Given the description of an element on the screen output the (x, y) to click on. 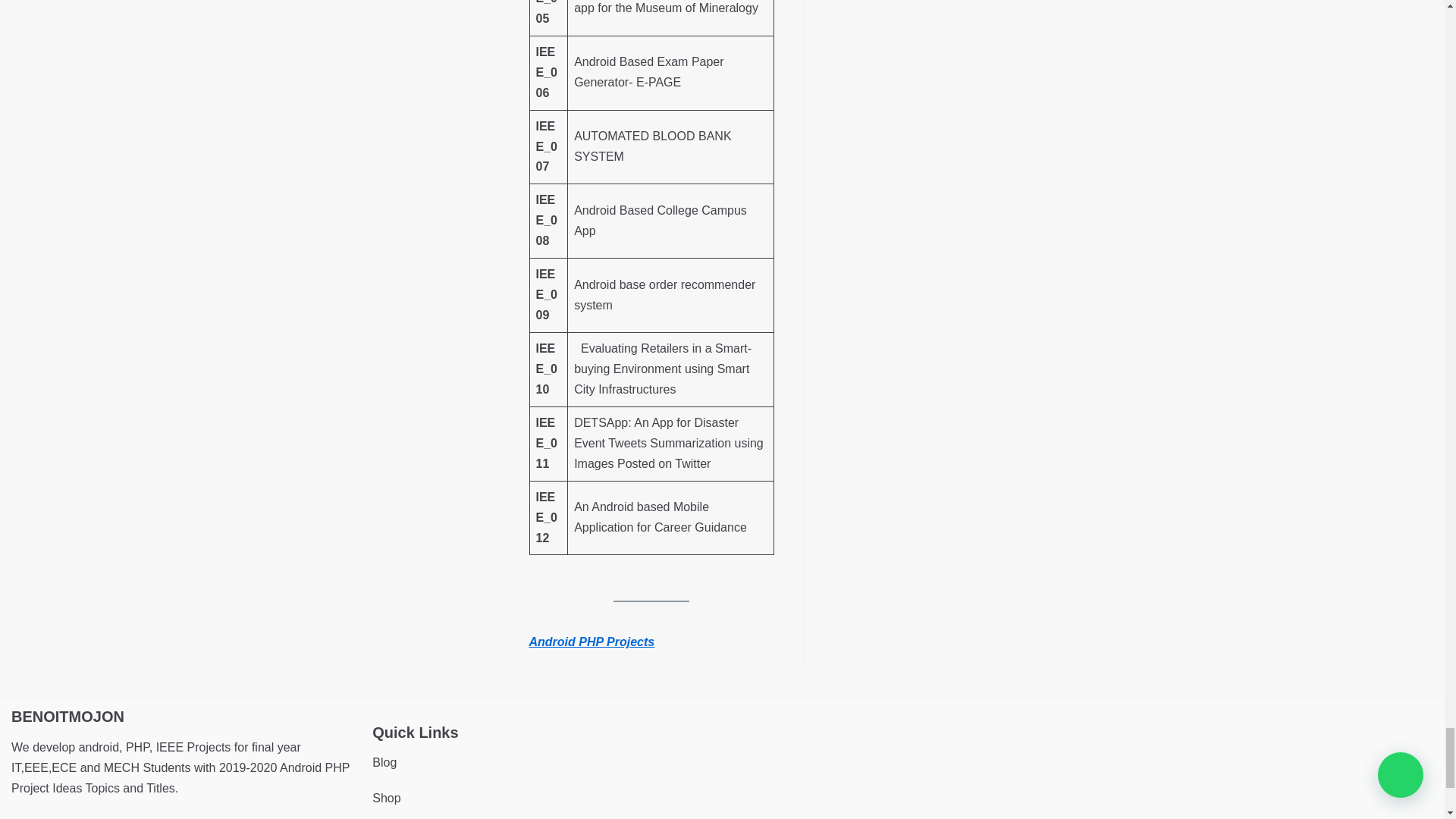
Android PHP Projects (592, 641)
